Given the description of an element on the screen output the (x, y) to click on. 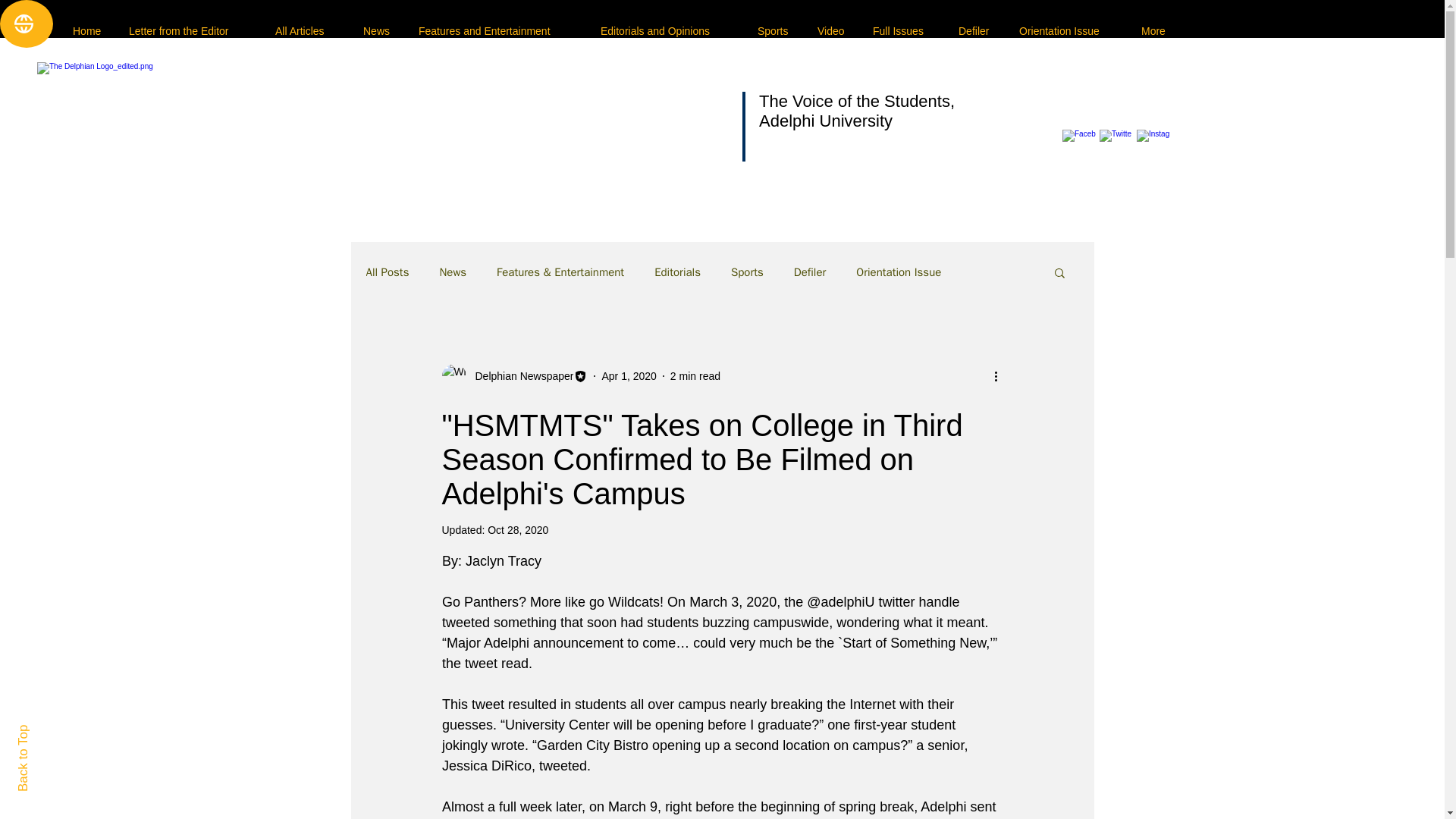
News (452, 272)
Oct 28, 2020 (517, 530)
Features and Entertainment (498, 30)
2 min read (694, 376)
Apr 1, 2020 (628, 376)
Sports (746, 272)
Delphian Newspaper (519, 376)
Defiler (810, 272)
News (379, 30)
Home (89, 30)
Video (833, 30)
Delphian Newspaper (514, 375)
Letter from the Editor (190, 30)
Defiler (977, 30)
Full Issues (904, 30)
